Given the description of an element on the screen output the (x, y) to click on. 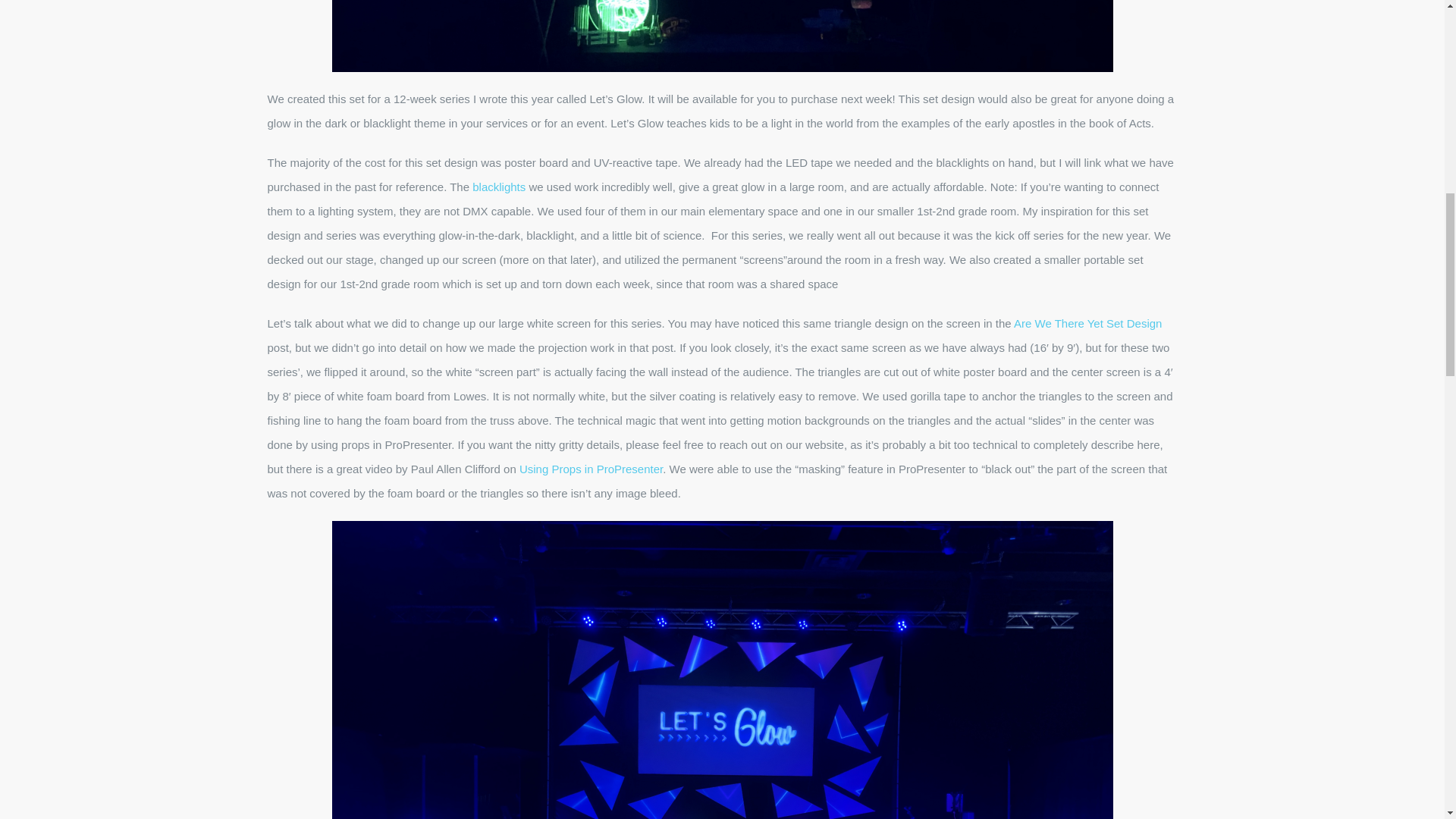
blacklights (498, 186)
Using Props in ProPresenter (590, 468)
Are We There Yet Set Design (1087, 323)
